Given the description of an element on the screen output the (x, y) to click on. 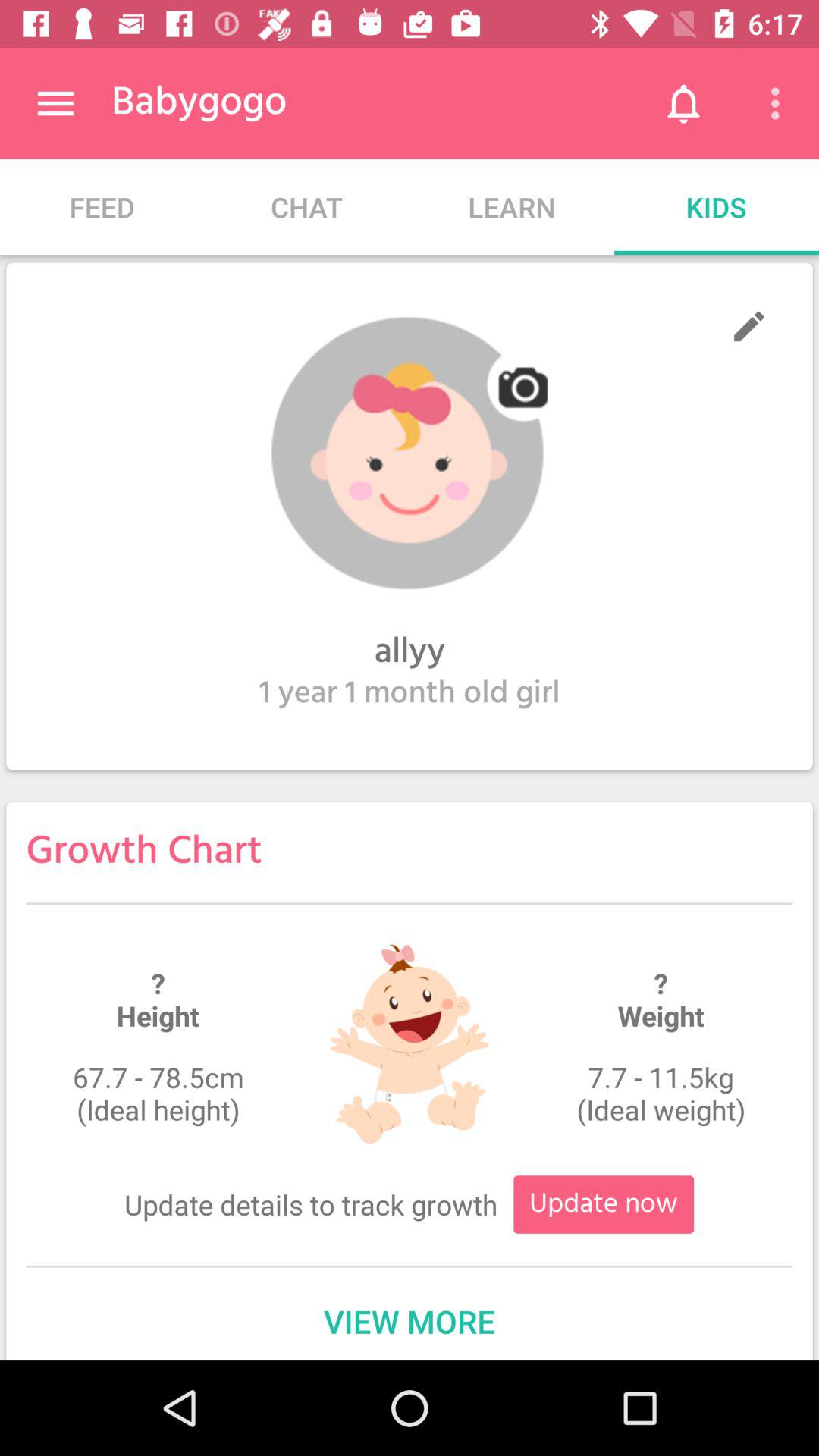
write a comment (748, 326)
